Given the description of an element on the screen output the (x, y) to click on. 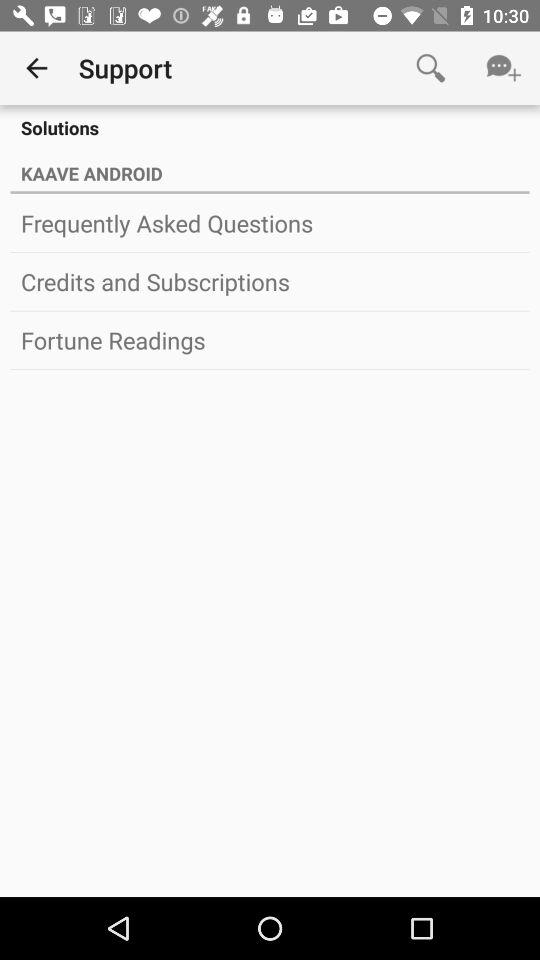
press item above the solutions item (430, 67)
